Given the description of an element on the screen output the (x, y) to click on. 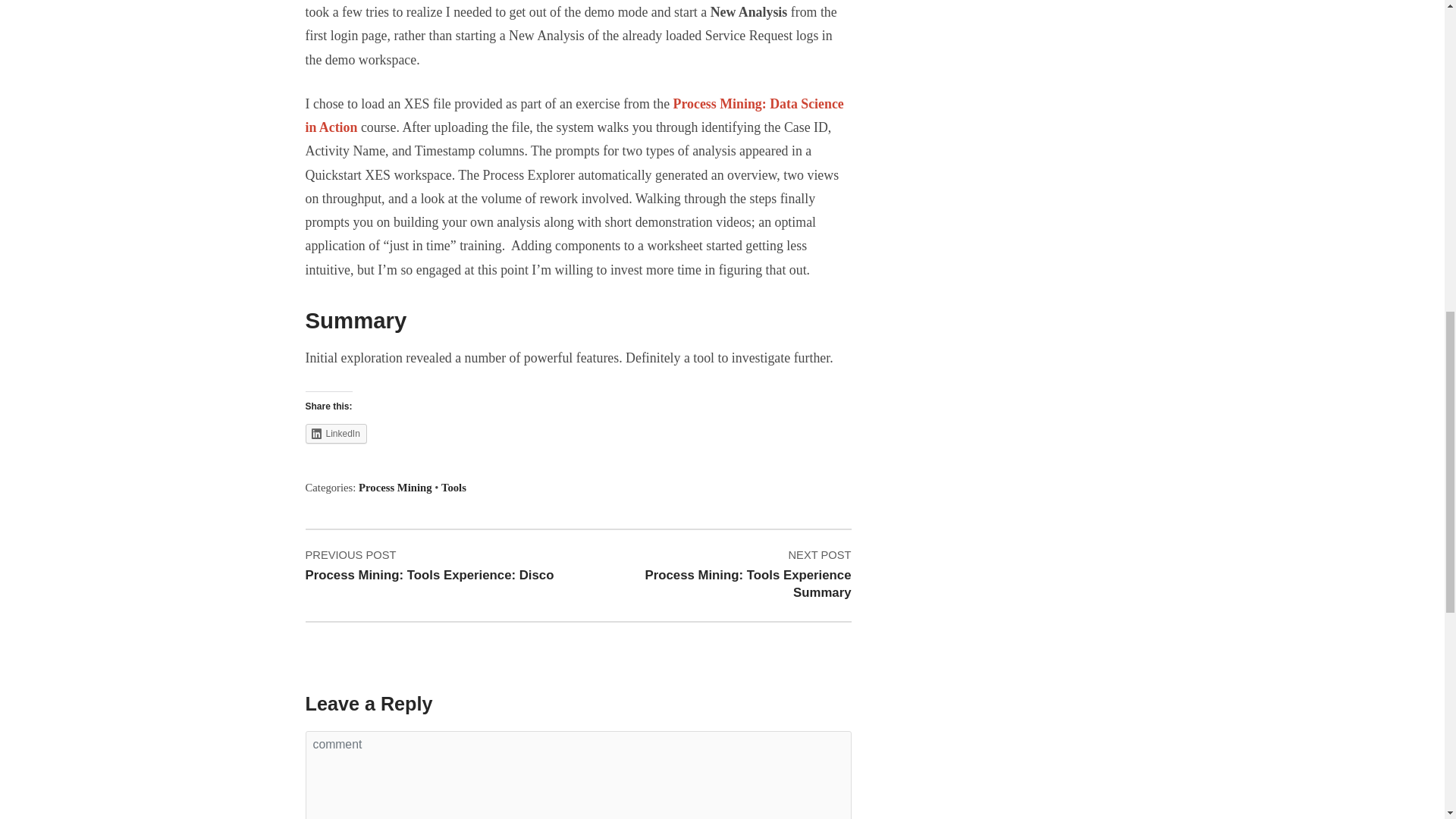
Click to share on LinkedIn (335, 433)
Process Mining: Data Science in Action (573, 115)
Tools (453, 487)
Process Mining (430, 565)
LinkedIn (394, 487)
